Given the description of an element on the screen output the (x, y) to click on. 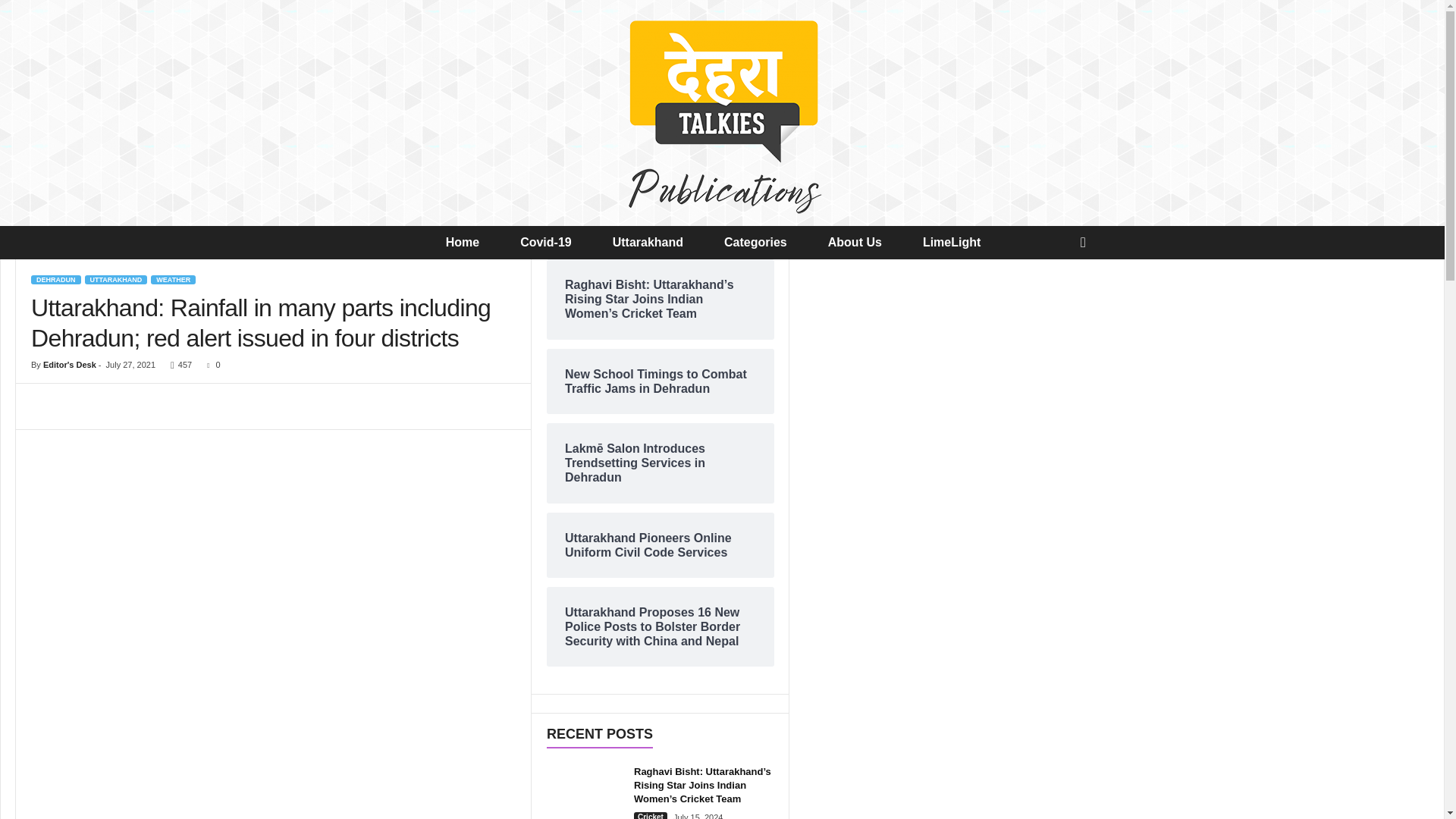
Home (472, 242)
Categories (764, 242)
Uttarakhand (657, 242)
Covid-19 (555, 242)
